Given the description of an element on the screen output the (x, y) to click on. 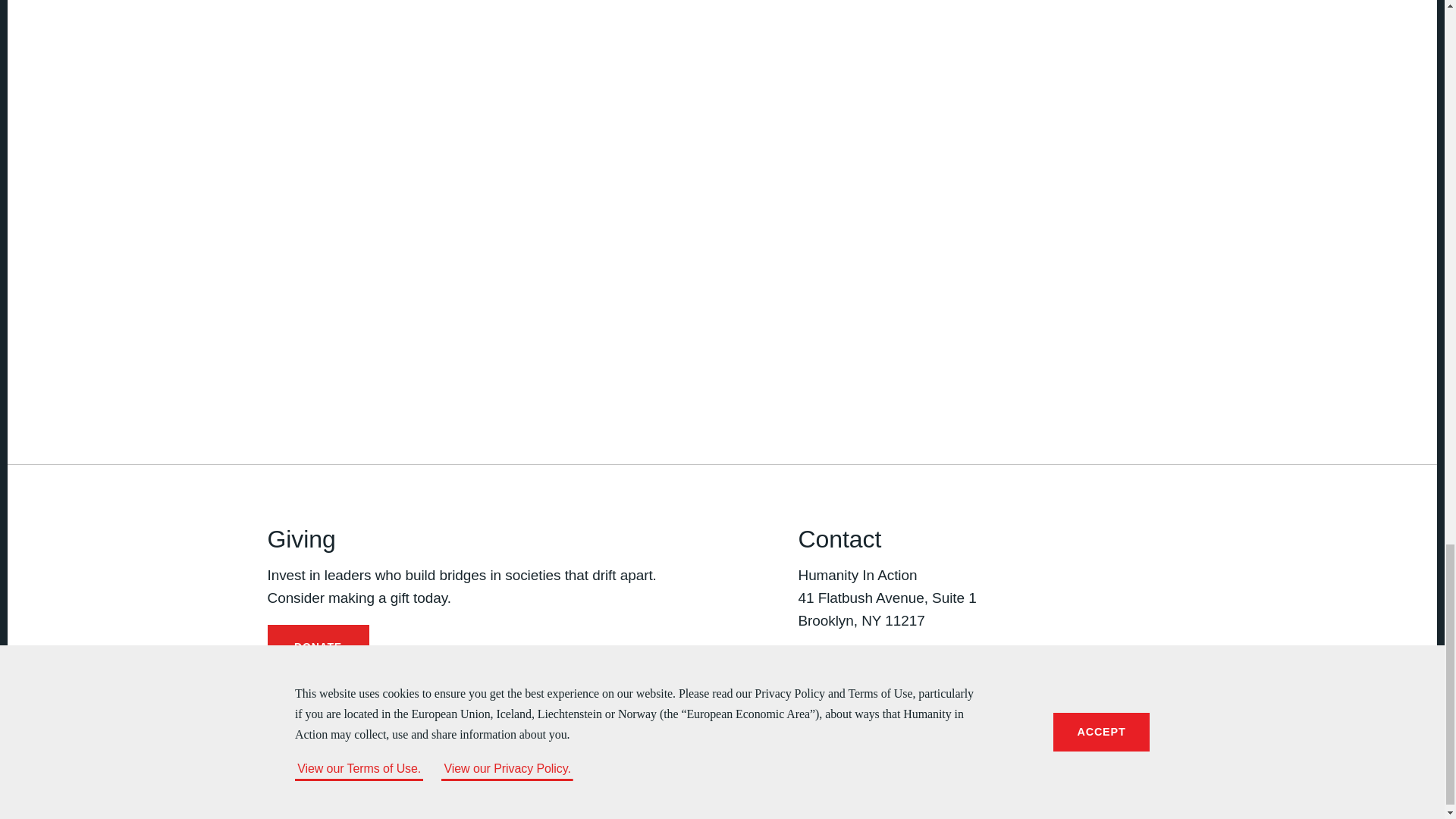
INSTAGRAM (868, 679)
TWITTER (837, 679)
YOUTUBE (899, 679)
FACEBOOK (806, 679)
